Given the description of an element on the screen output the (x, y) to click on. 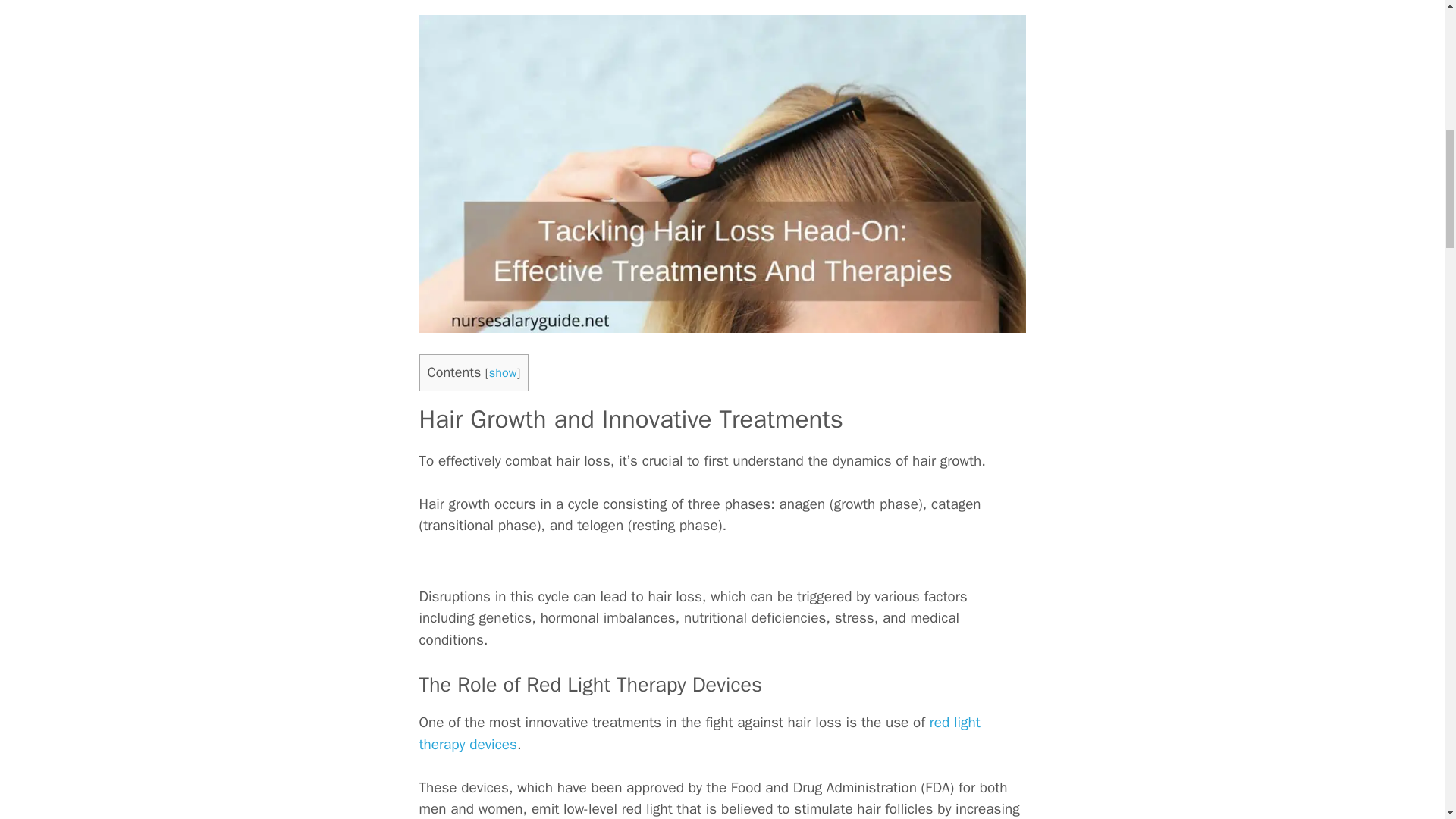
show (502, 372)
Scroll back to top (1406, 675)
red light therapy devices (699, 733)
